Given the description of an element on the screen output the (x, y) to click on. 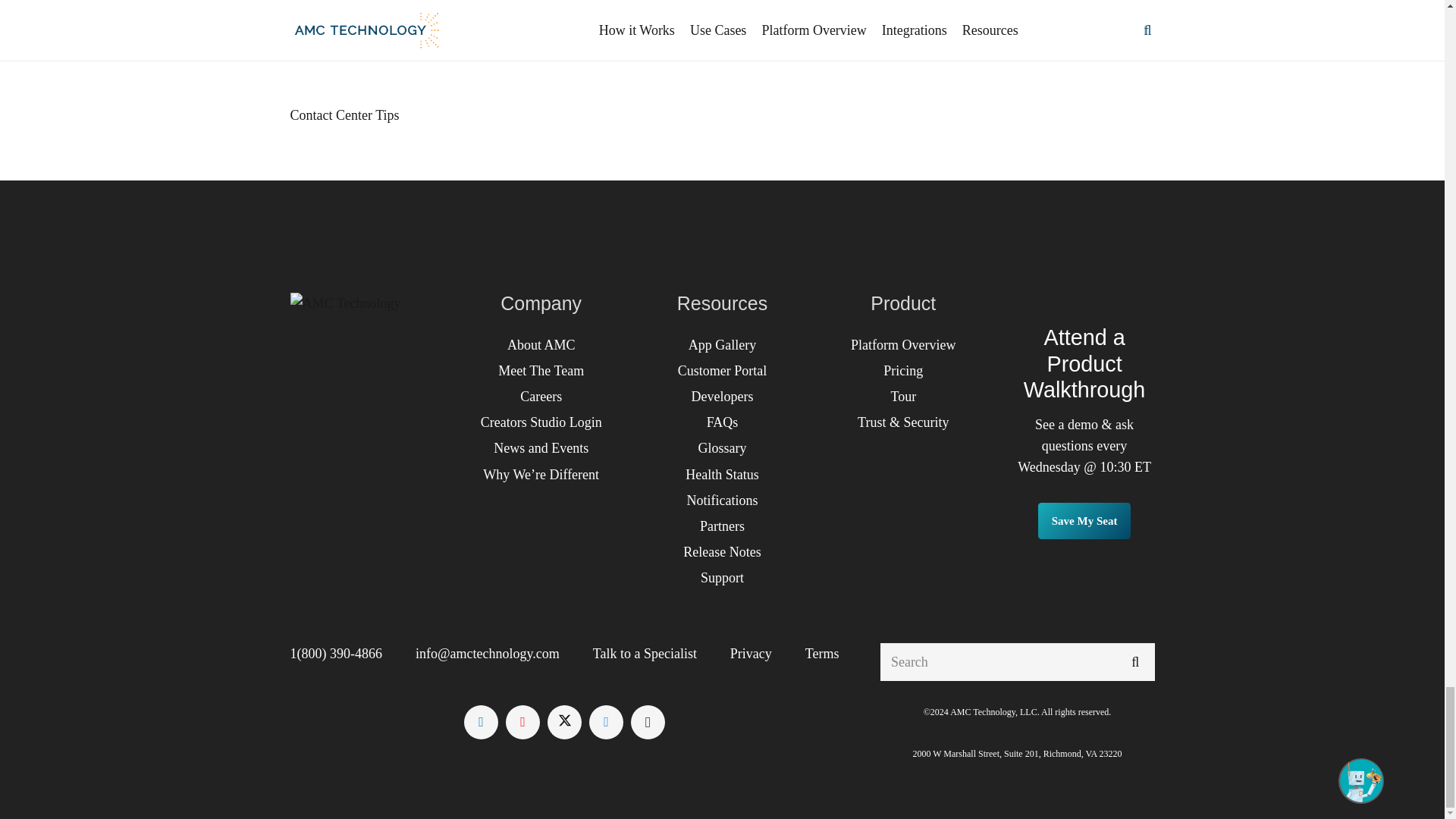
Share this (309, 2)
Twitter (563, 721)
Facebook (606, 721)
Share this (391, 2)
Tweet this (350, 2)
What is CTI? (752, 44)
Instagram (647, 721)
YouTube (522, 721)
LinkedIn (480, 721)
